Given the description of an element on the screen output the (x, y) to click on. 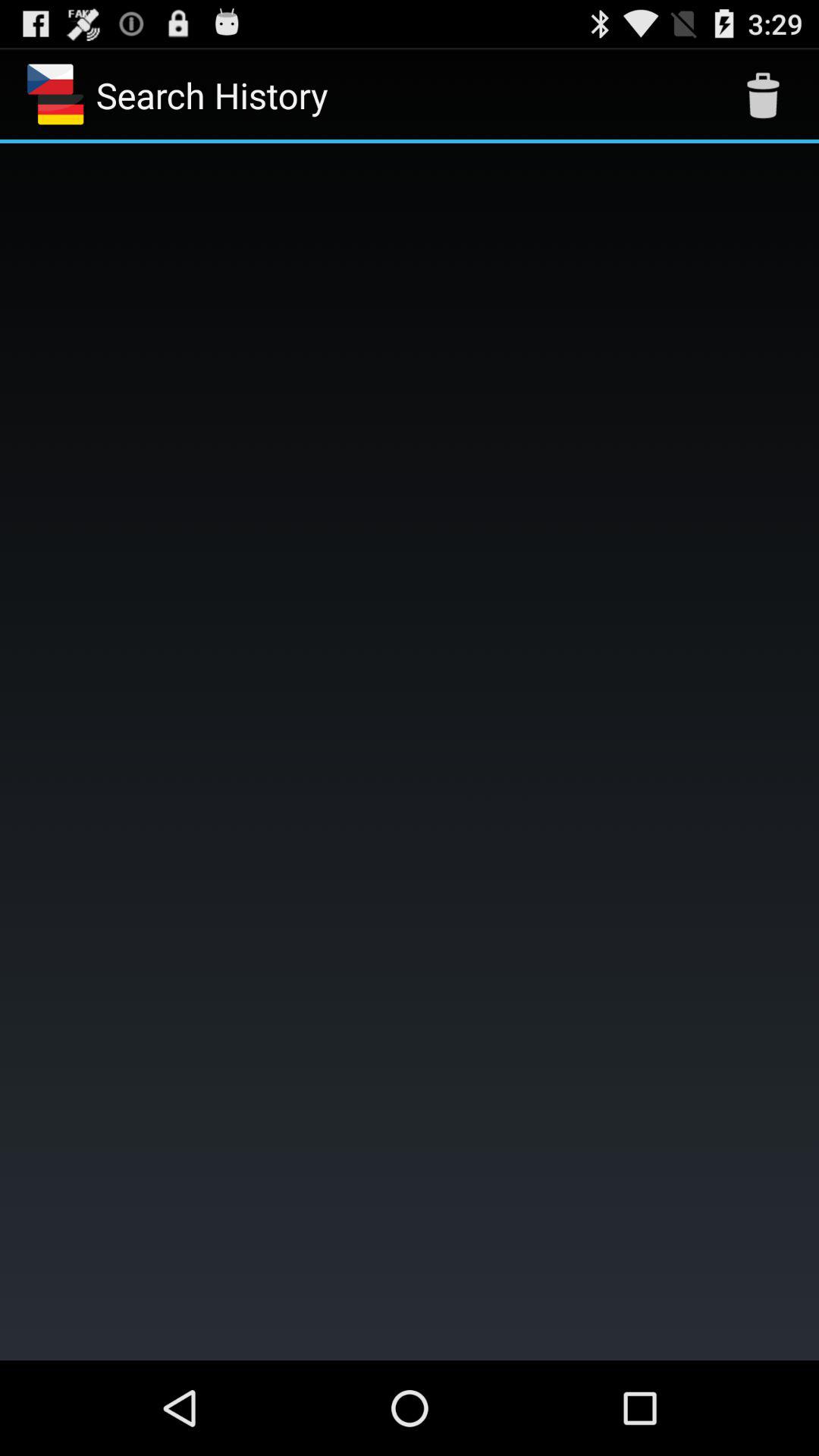
turn off icon to the right of search history icon (763, 95)
